Given the description of an element on the screen output the (x, y) to click on. 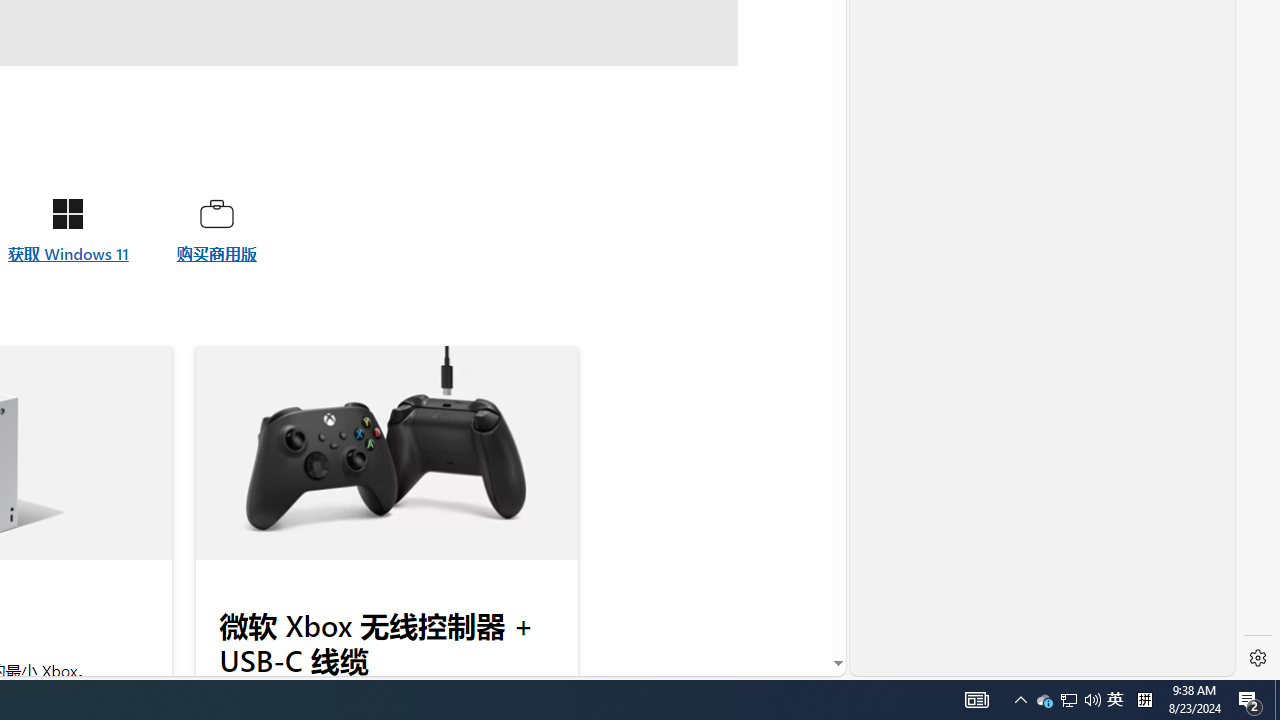
Settings (1258, 658)
A pair of Xbox Wireless Controllers with USB-C Cable. (386, 453)
